Given the description of an element on the screen output the (x, y) to click on. 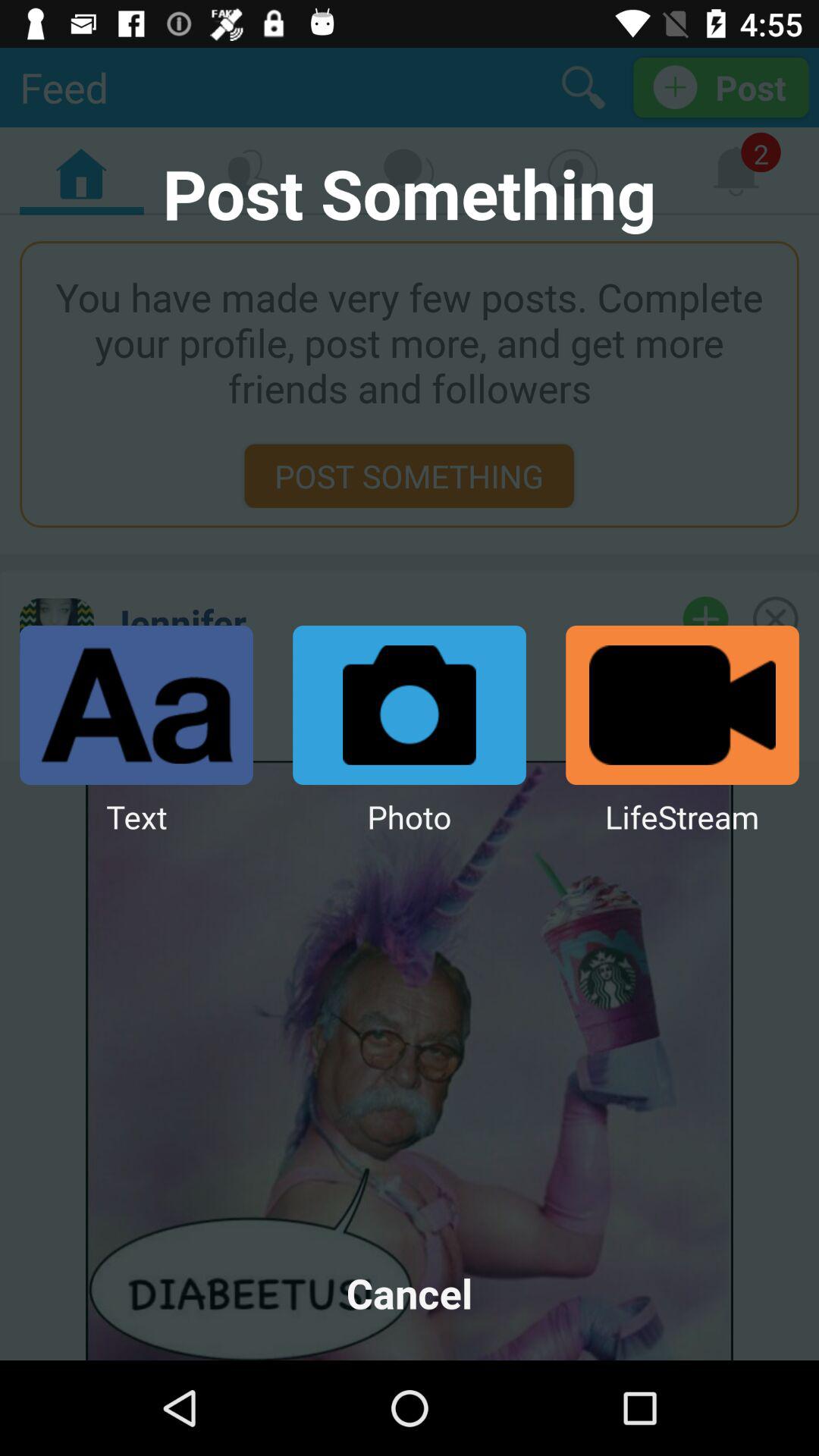
turn on the item below the text item (409, 1292)
